Given the description of an element on the screen output the (x, y) to click on. 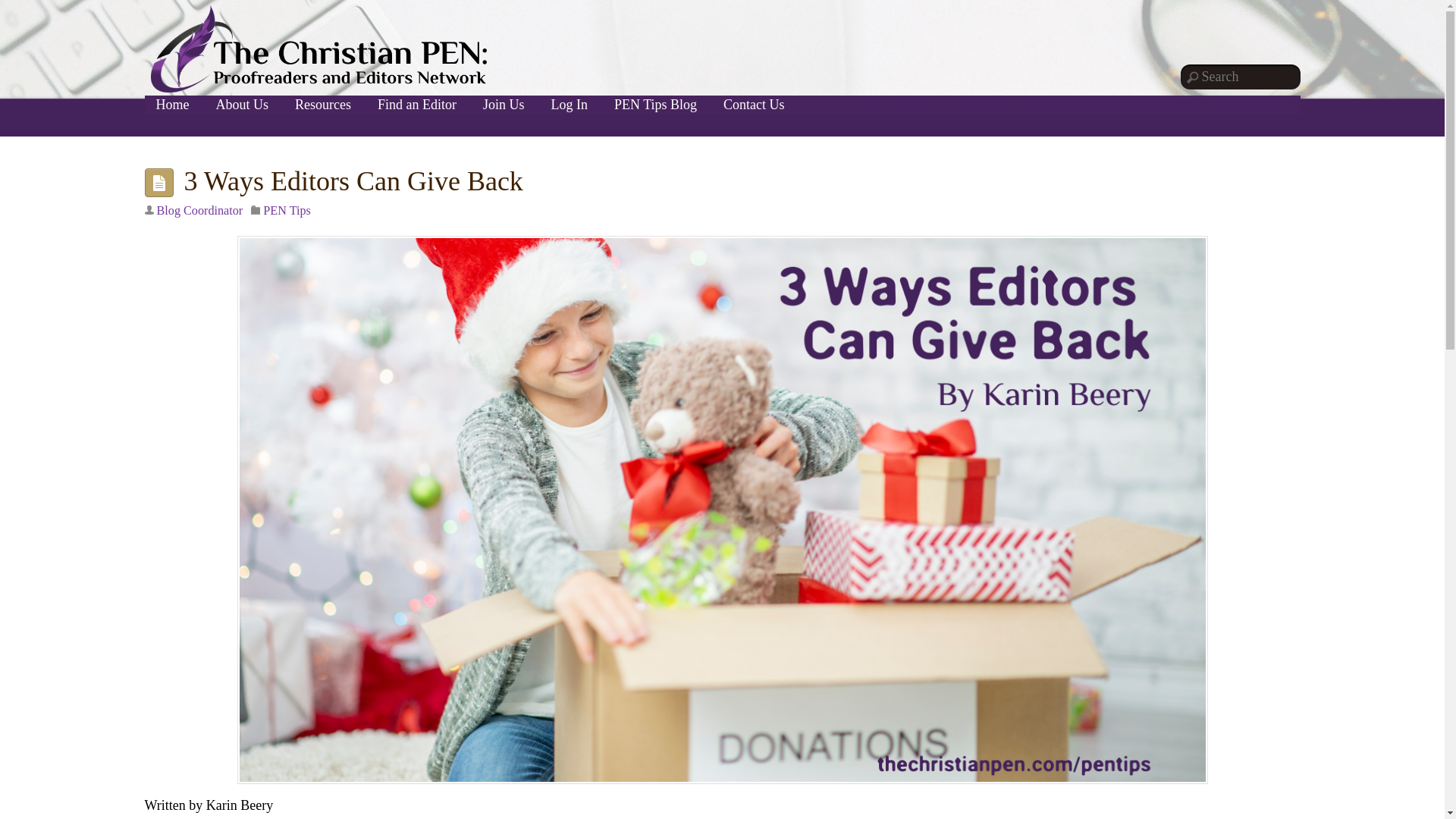
Home (172, 104)
Contact Us (753, 104)
Log In (569, 104)
PEN Tips (287, 210)
Find an Editor (416, 104)
About Us (243, 104)
3 Ways Editors Can Give Back (352, 181)
Resources (322, 104)
Join Us (503, 104)
3 Ways Editors Can Give Back (352, 181)
